Given the description of an element on the screen output the (x, y) to click on. 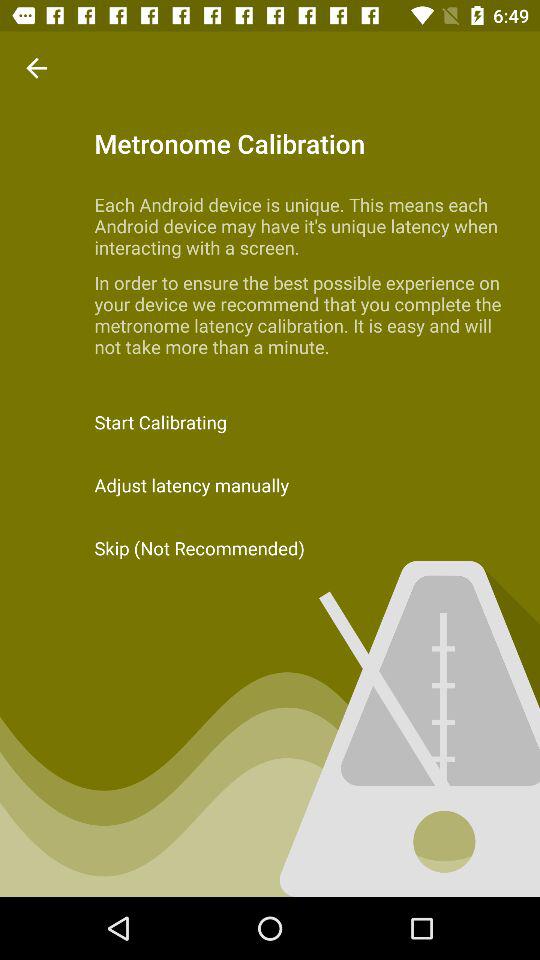
turn off icon below in order to item (270, 421)
